Given the description of an element on the screen output the (x, y) to click on. 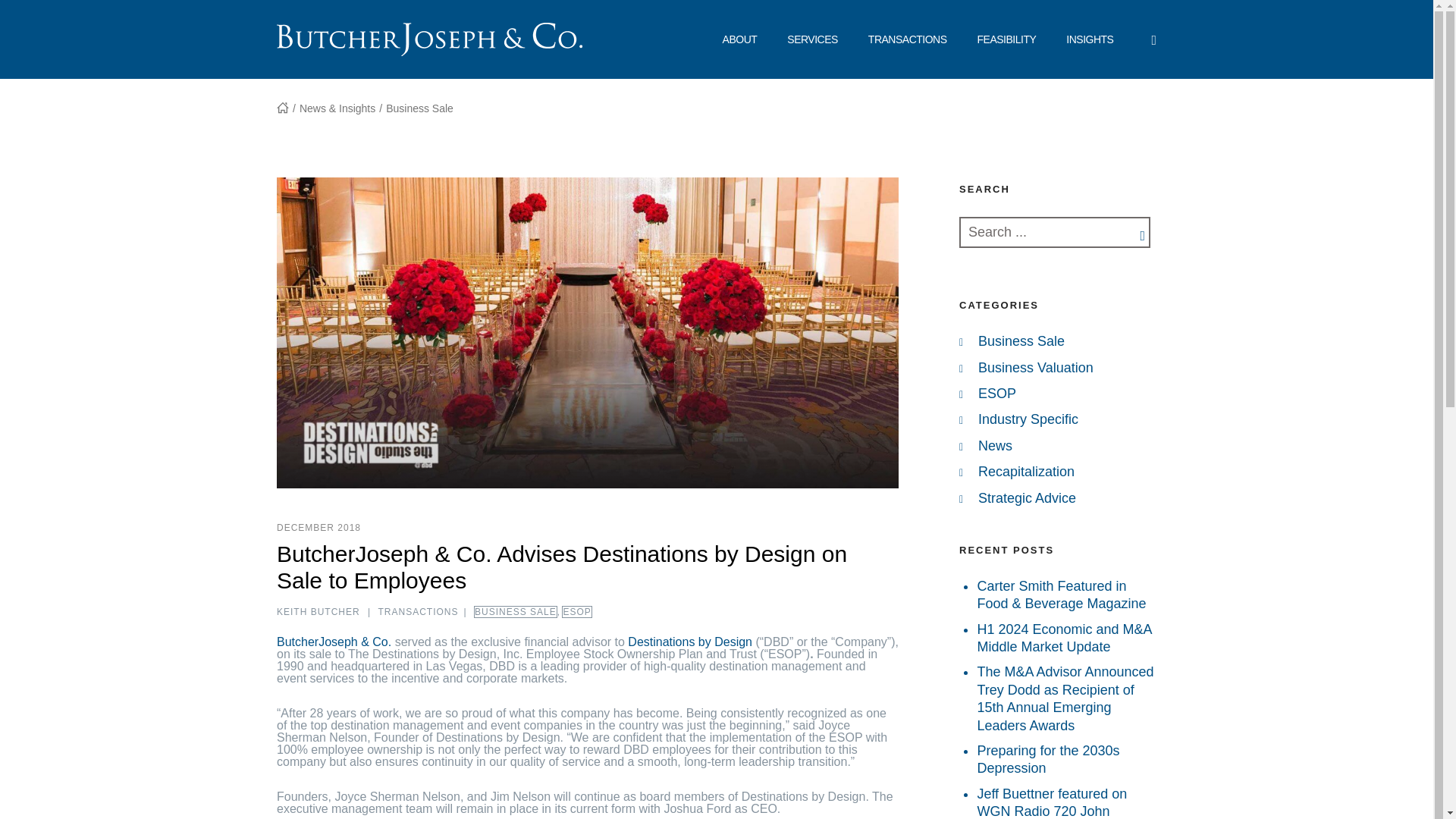
About (740, 39)
Destinations by Design (689, 641)
Transactions (907, 39)
Business Sale (1021, 340)
Feasibility (1006, 39)
TRANSACTIONS (907, 39)
INSIGHTS (1089, 39)
Go to the Business Sale category archives. (418, 108)
ABOUT (740, 39)
TRANSACTIONS (417, 611)
Services (812, 39)
Industry Specific (1028, 418)
Insights (1089, 39)
Business Valuation (1035, 367)
Posts by Keith Butcher (317, 611)
